Given the description of an element on the screen output the (x, y) to click on. 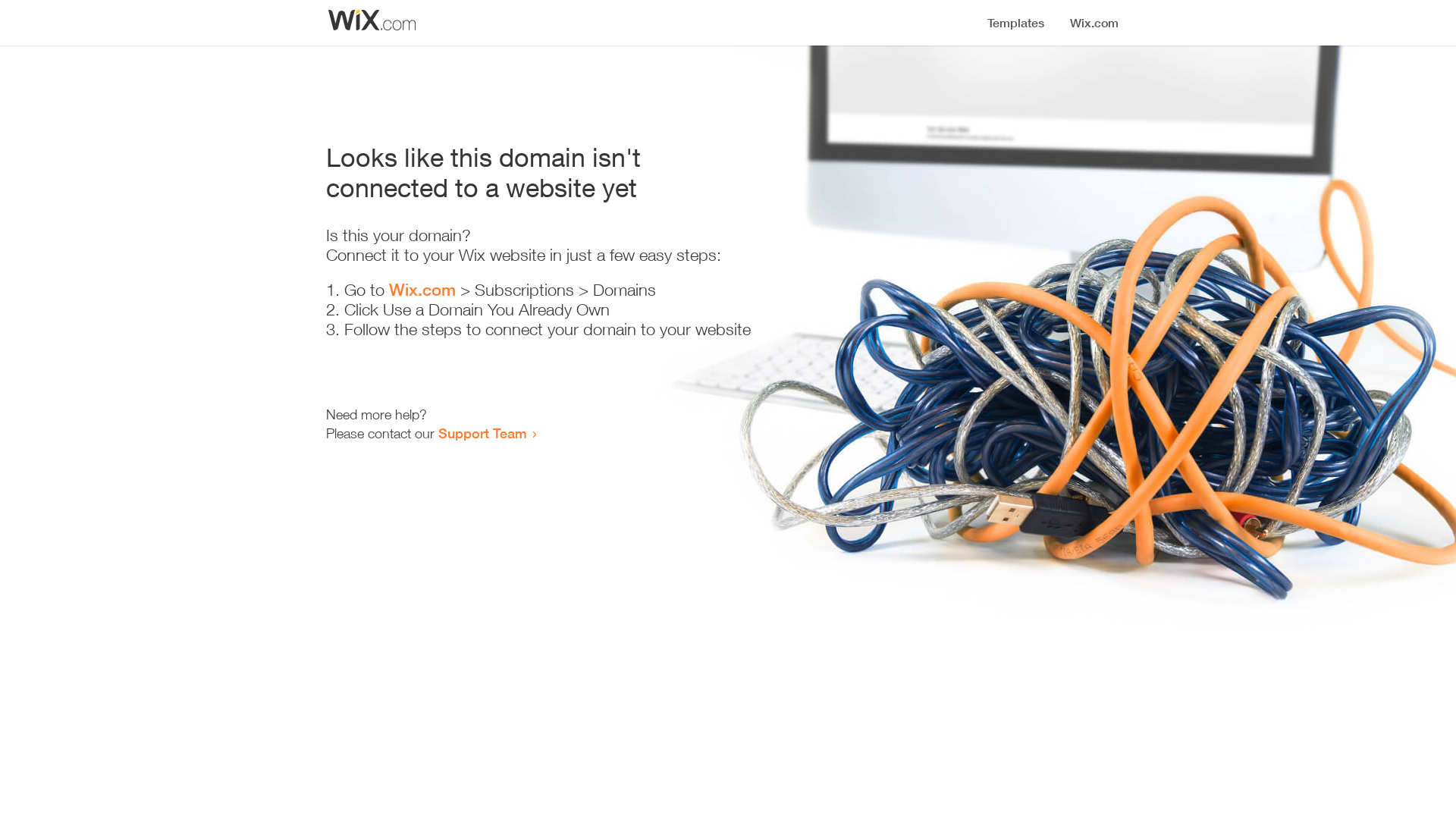
Support Team Element type: text (482, 432)
Wix.com Element type: text (422, 289)
